Given the description of an element on the screen output the (x, y) to click on. 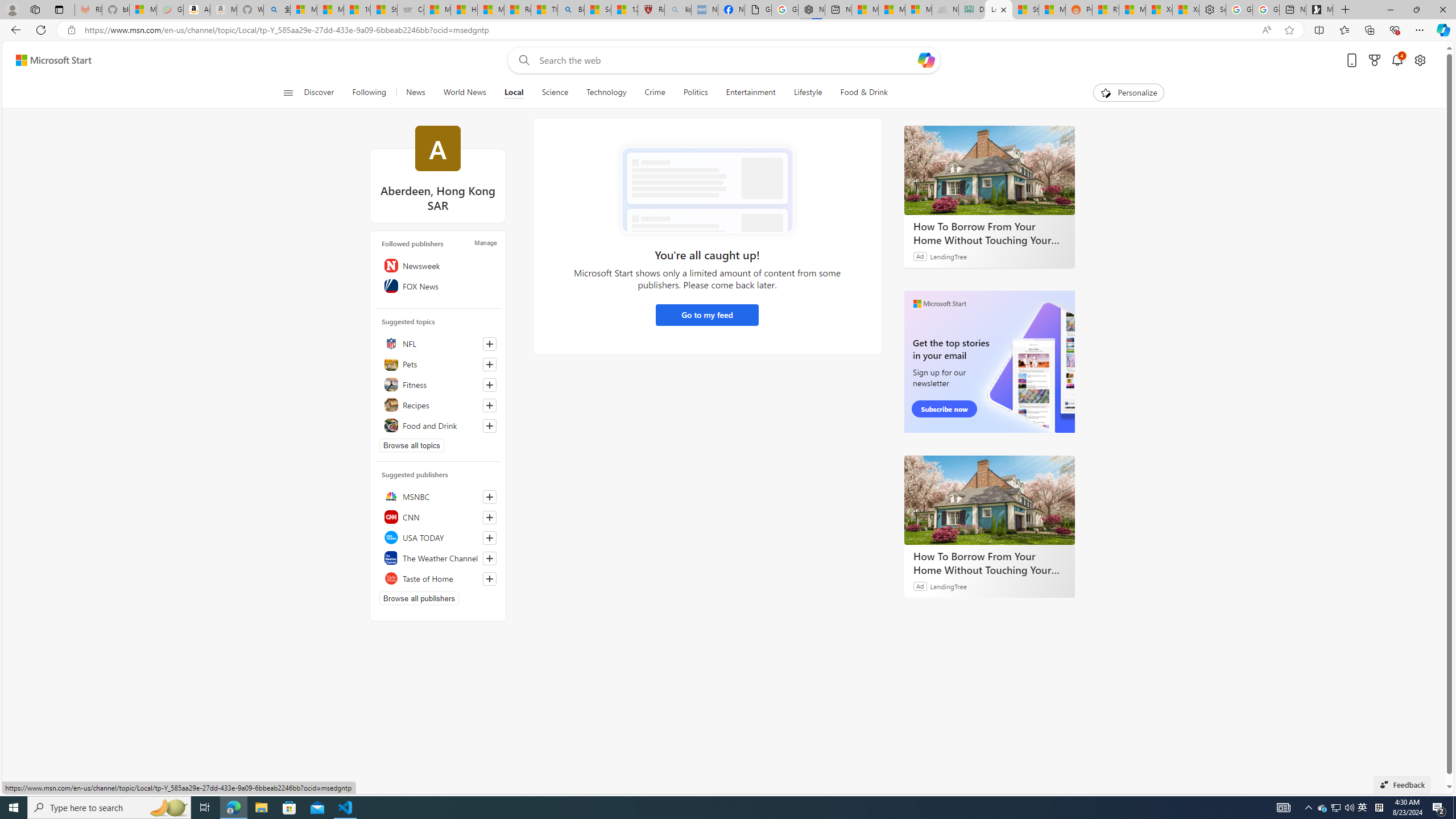
R******* | Trusted Community Engagement and Contributions (1105, 9)
FOX News (437, 285)
Error (706, 189)
